Given the description of an element on the screen output the (x, y) to click on. 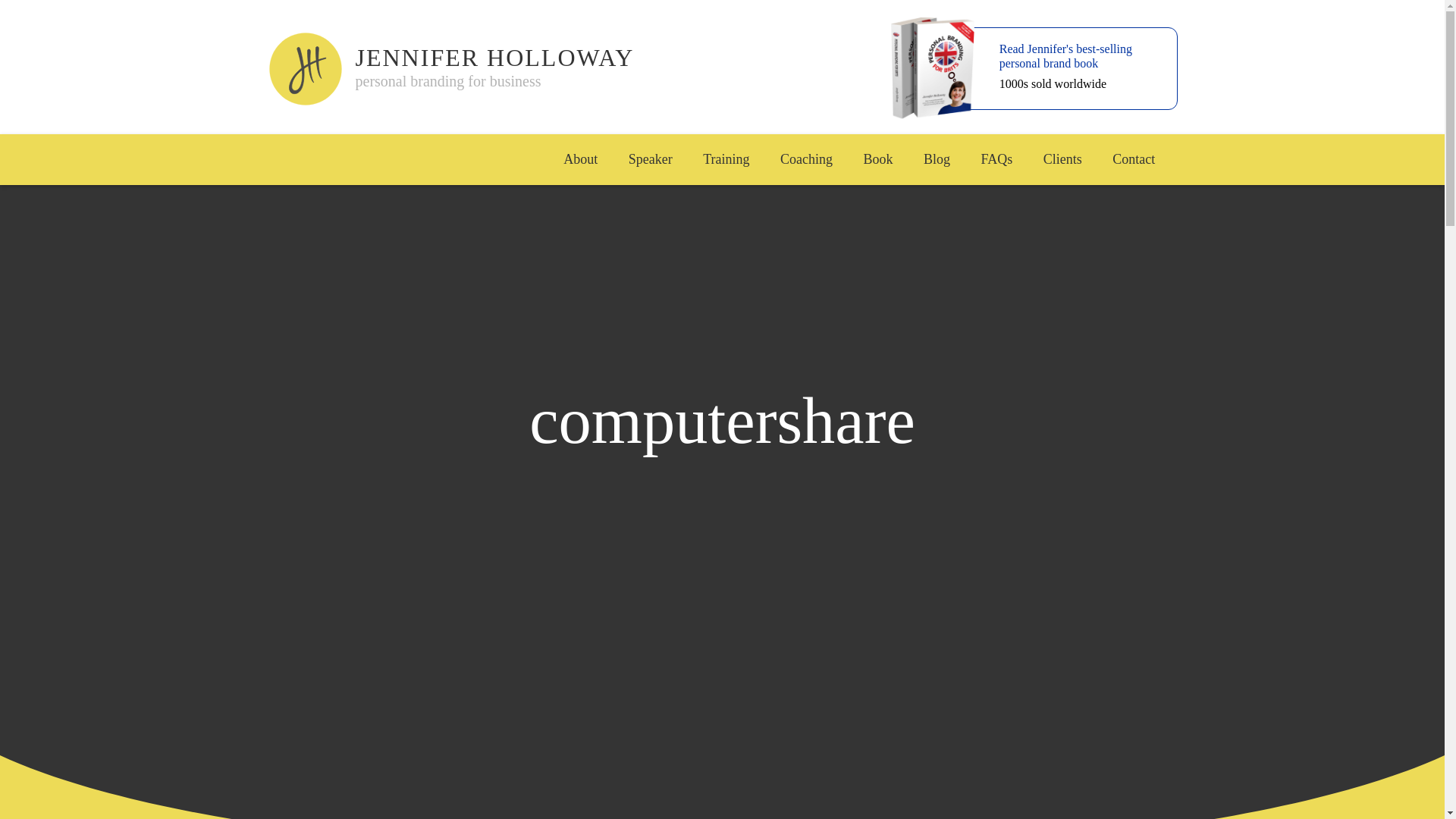
Clients (1062, 159)
JENNIFER HOLLOWAY (607, 56)
Read Jennifer's best-selling personal brand book (1063, 58)
About (580, 159)
Book (877, 159)
Coaching (806, 159)
Blog (937, 159)
Contact (1133, 159)
Speaker (649, 159)
FAQs (996, 159)
Training (726, 159)
